Given the description of an element on the screen output the (x, y) to click on. 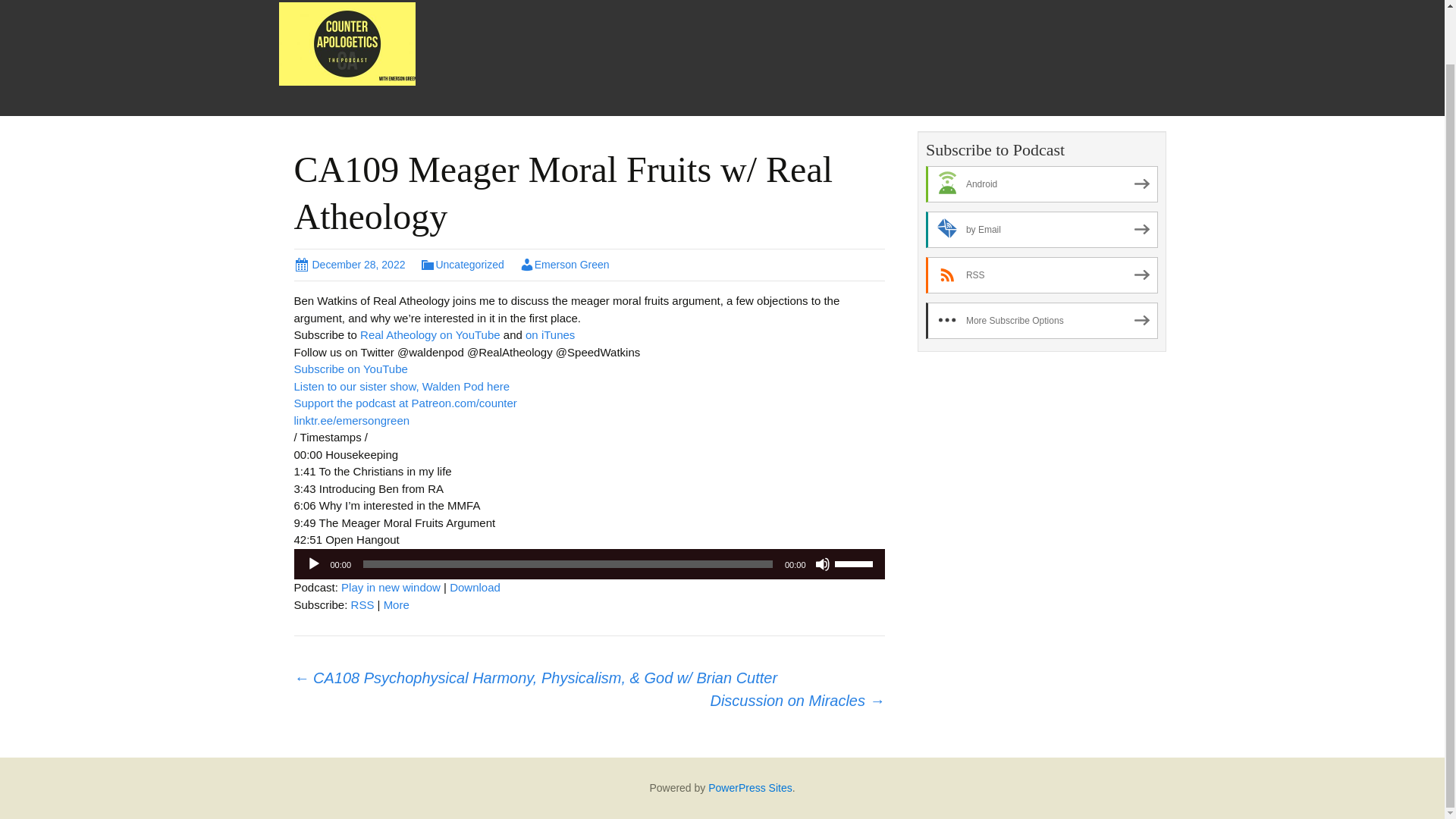
Emerson Green (564, 264)
on iTunes (550, 334)
Subscribe via RSS (1041, 275)
RSS (362, 604)
Subscribe on Android (1041, 184)
Subscribe via RSS (362, 604)
More Subscribe Options (1041, 320)
Play in new window (390, 586)
by Email (1041, 229)
More (396, 604)
Play (313, 563)
View all posts by Emerson Green (564, 264)
Android (1041, 184)
Counter Apologetics (346, 42)
Mute (821, 563)
